Given the description of an element on the screen output the (x, y) to click on. 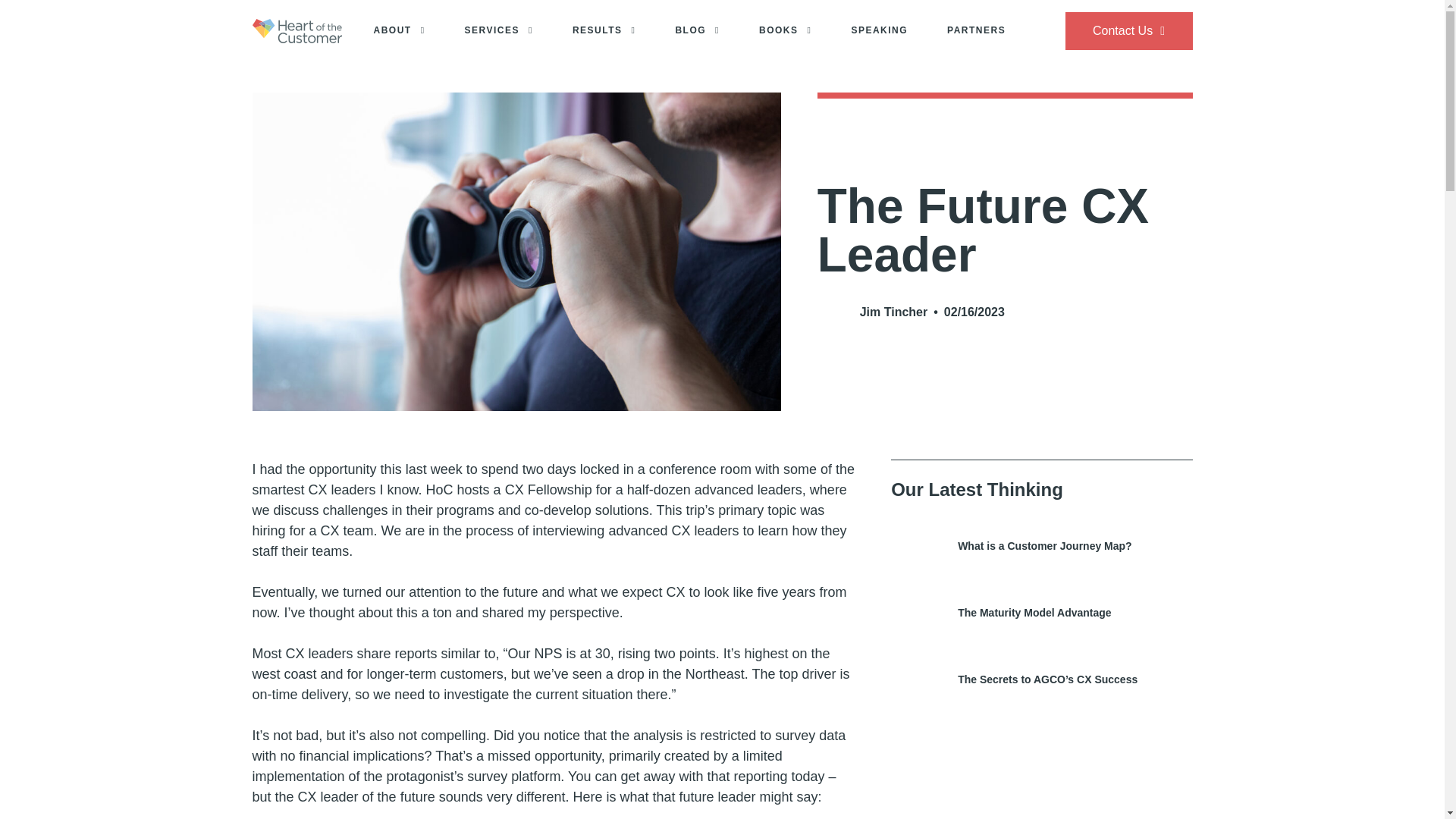
Contact Us (1128, 30)
SPEAKING (878, 30)
PARTNERS (975, 30)
